Given the description of an element on the screen output the (x, y) to click on. 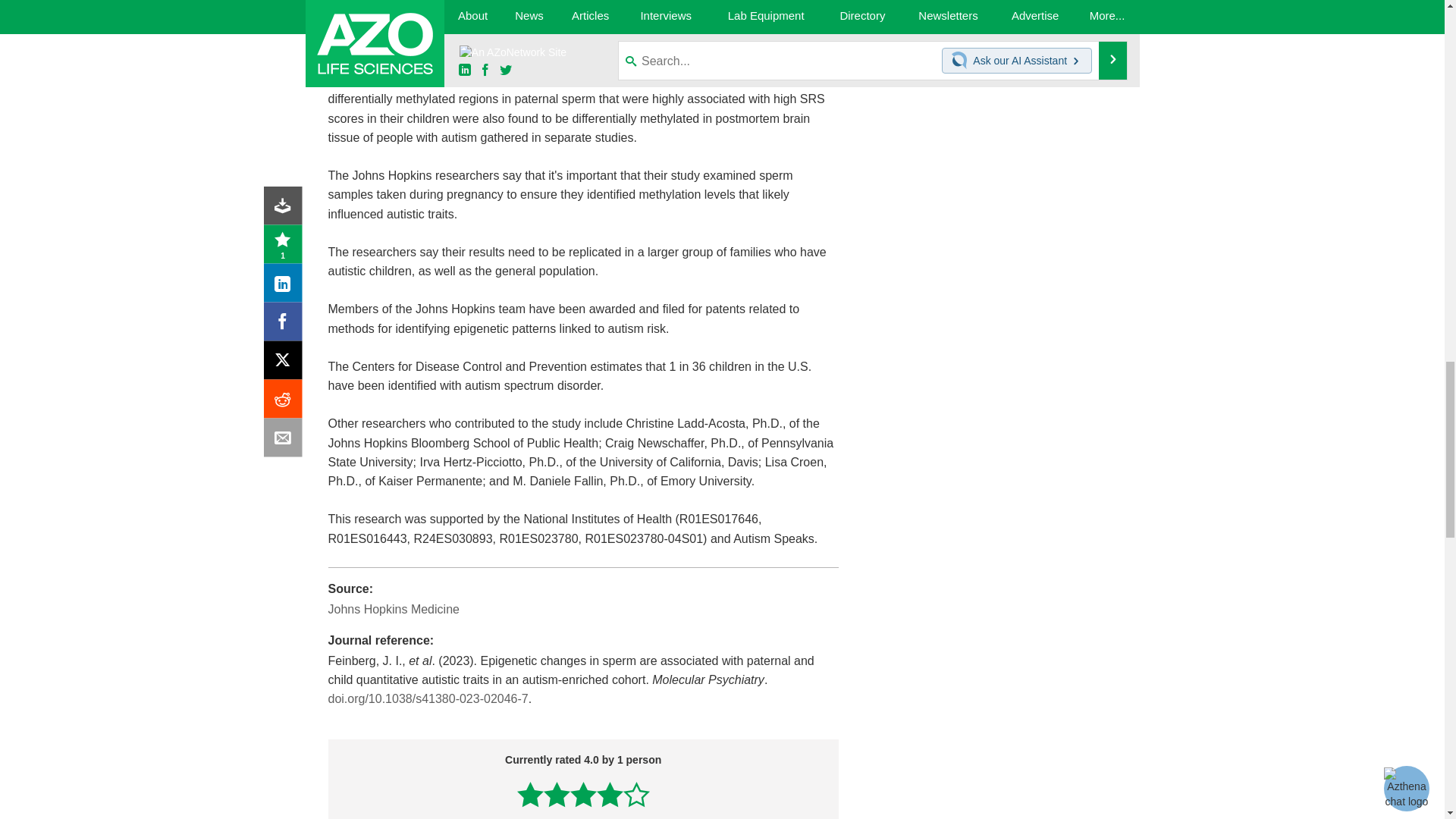
Rate this 4 stars out of 5 (609, 794)
Rate this 5 stars out of 5 (636, 794)
Rate this 3 stars out of 5 (583, 794)
